Given the description of an element on the screen output the (x, y) to click on. 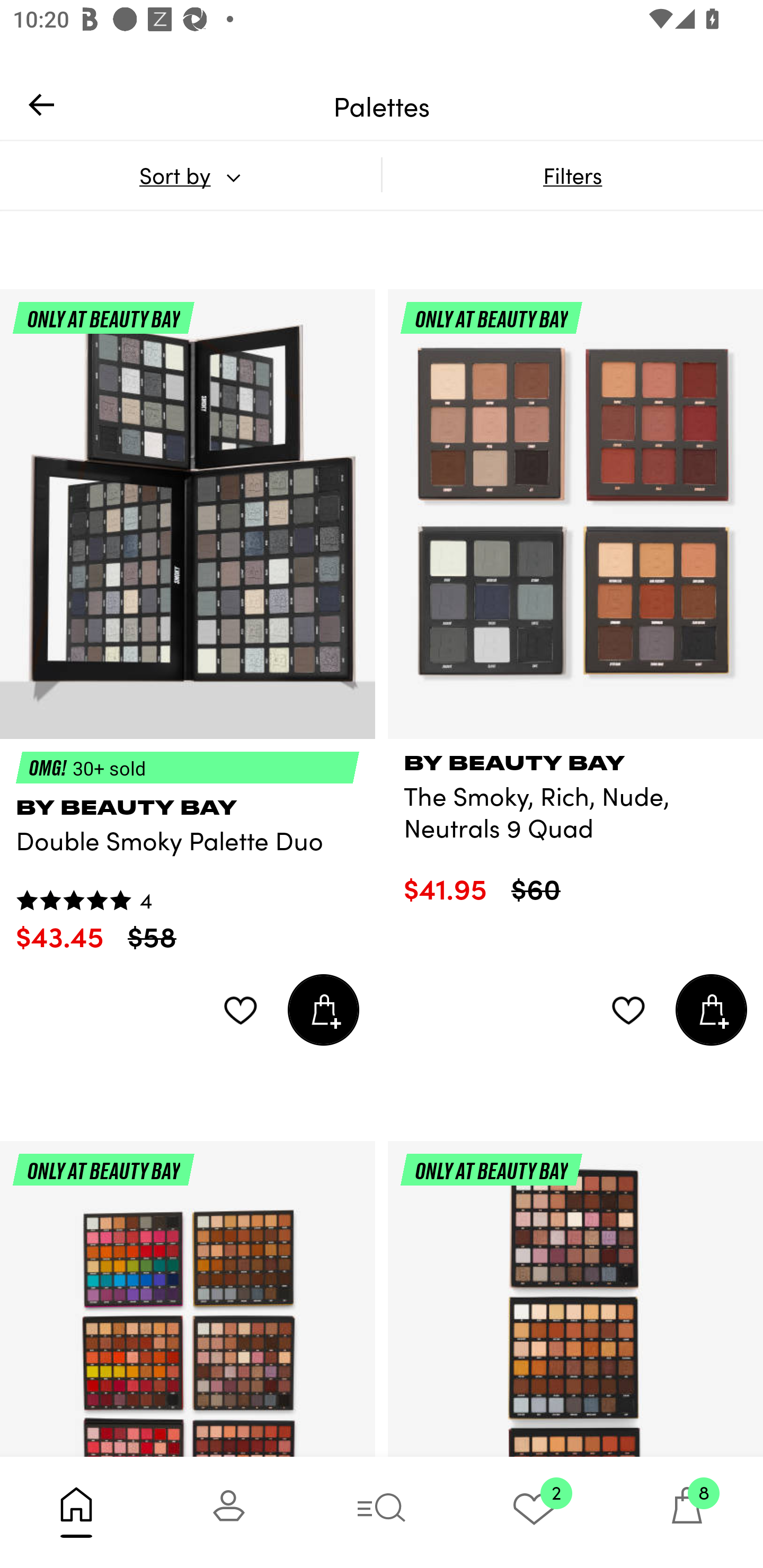
Sort by (190, 174)
Filters (572, 174)
2 (533, 1512)
8 (686, 1512)
